Given the description of an element on the screen output the (x, y) to click on. 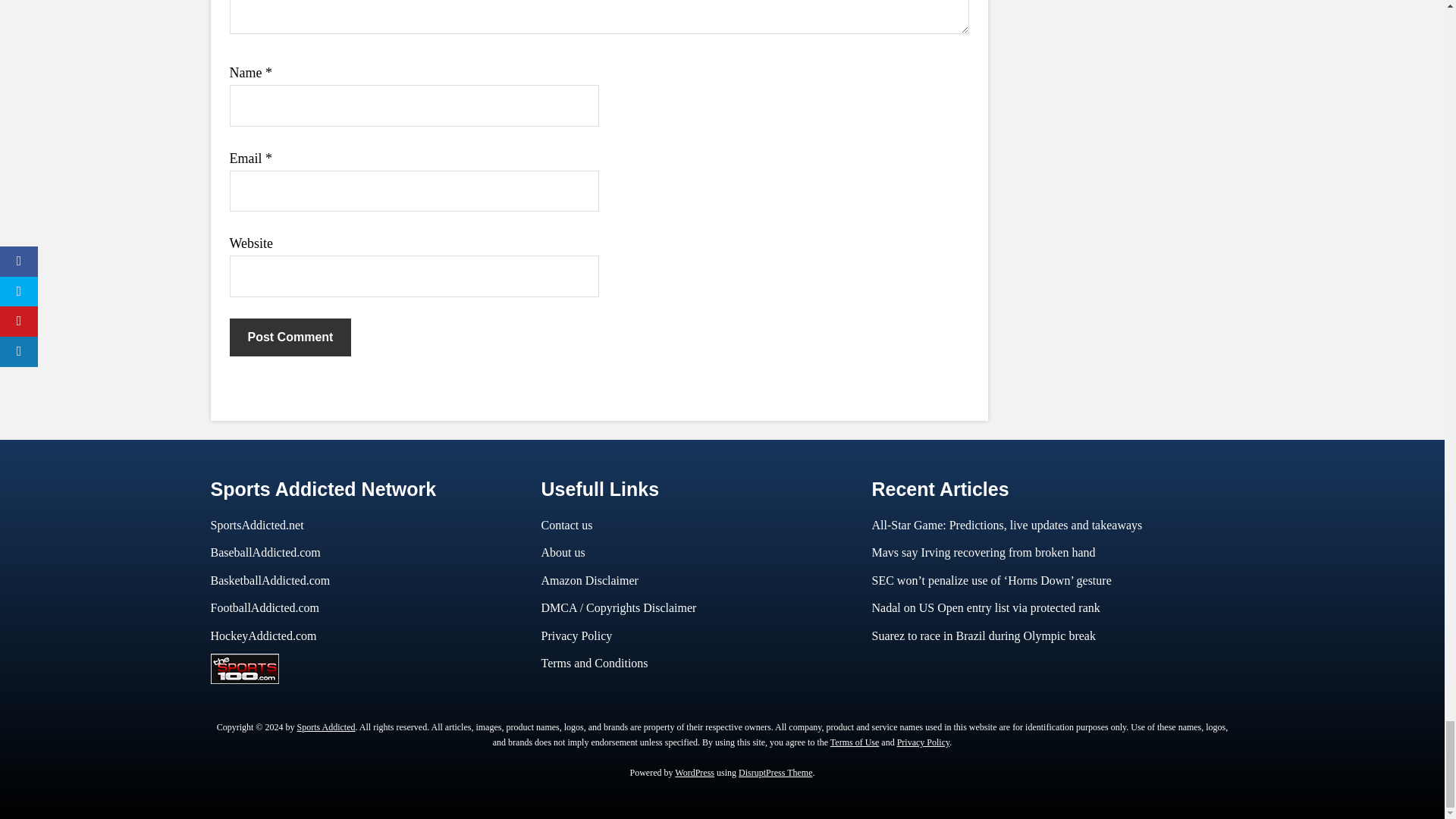
Post Comment (289, 337)
